Given the description of an element on the screen output the (x, y) to click on. 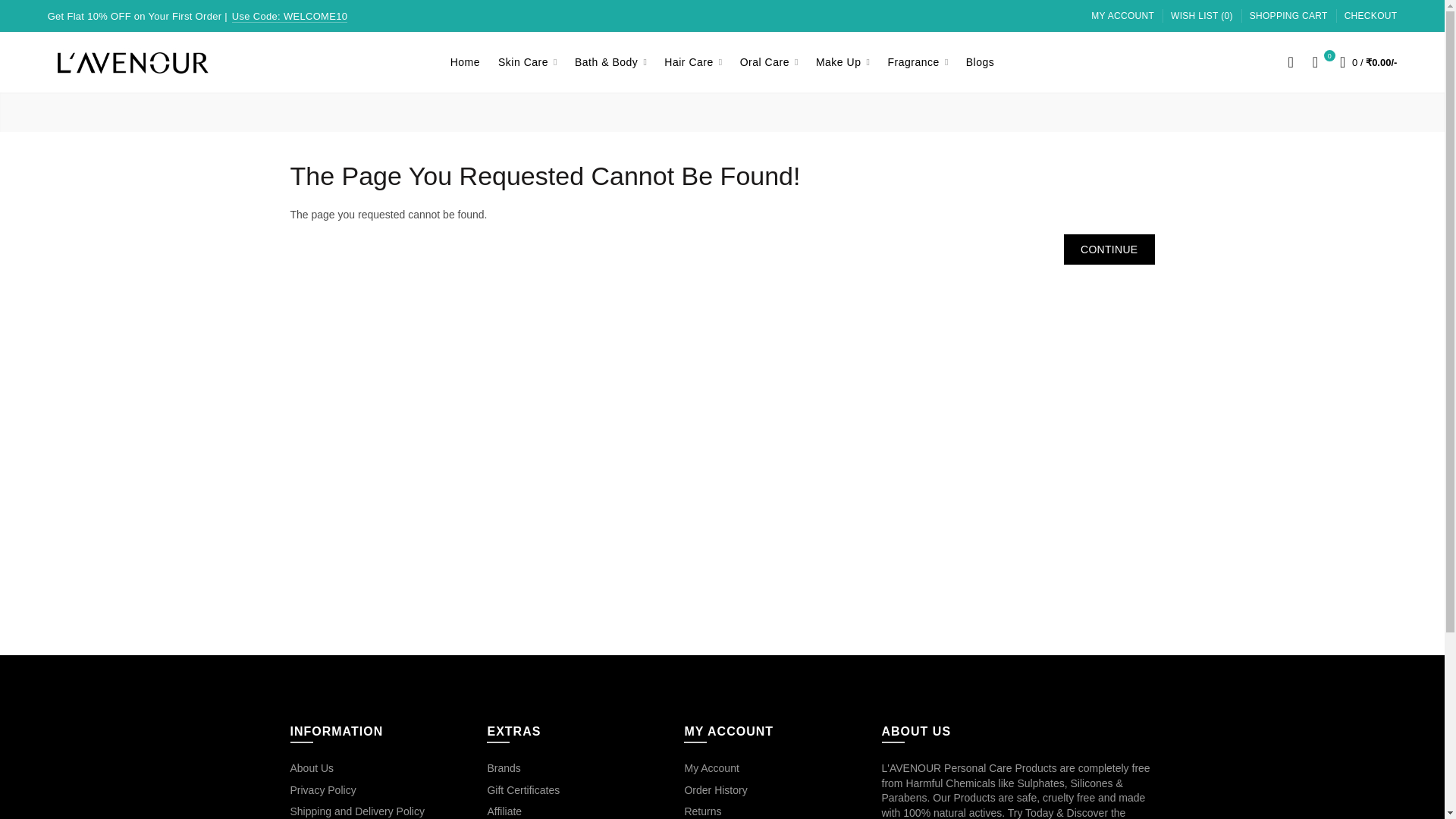
Shopping Cart (1288, 16)
My Account (1122, 16)
Checkout (1370, 16)
L'AVENOUR (133, 62)
